Given the description of an element on the screen output the (x, y) to click on. 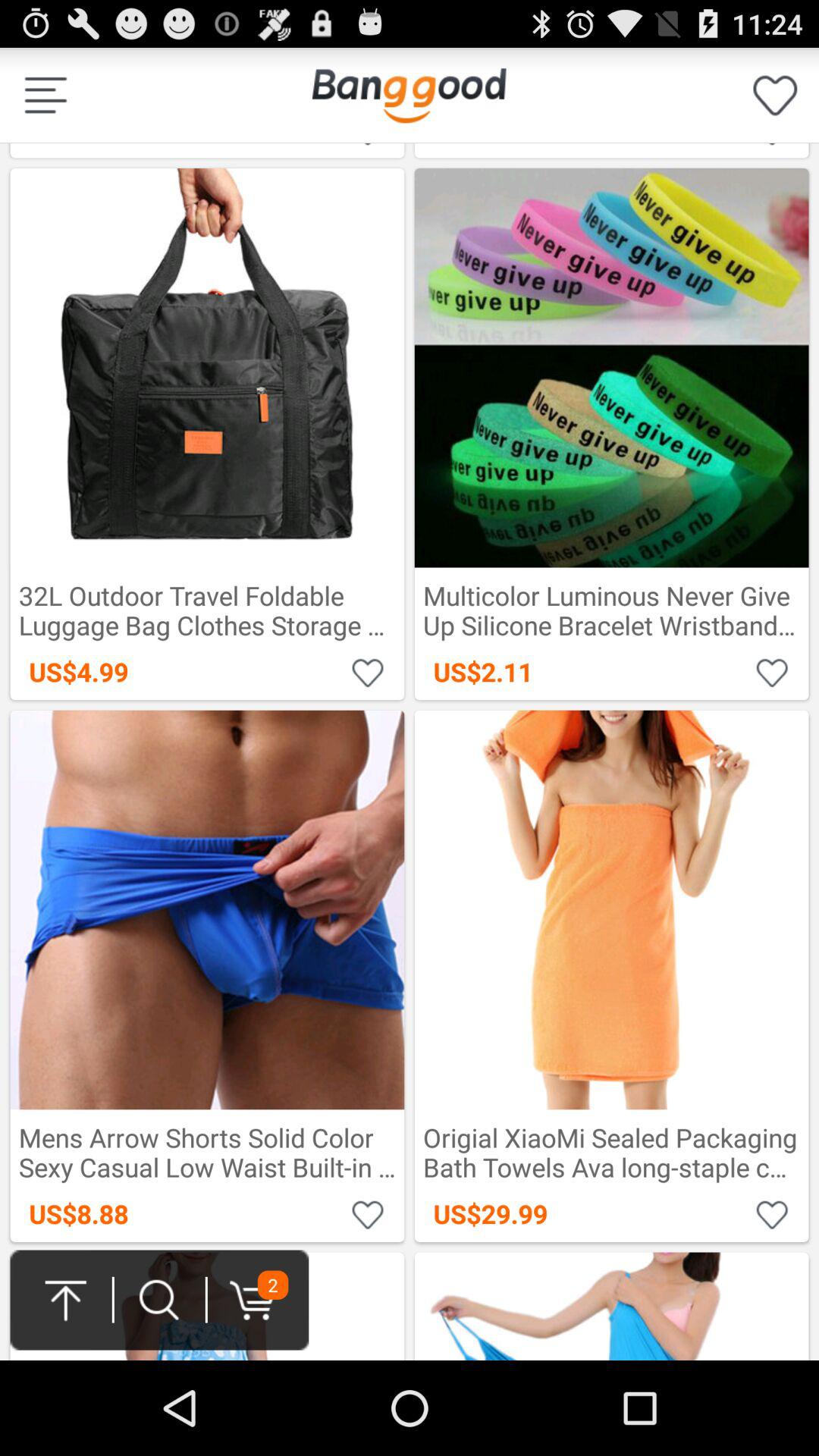
like this item (368, 145)
